Given the description of an element on the screen output the (x, y) to click on. 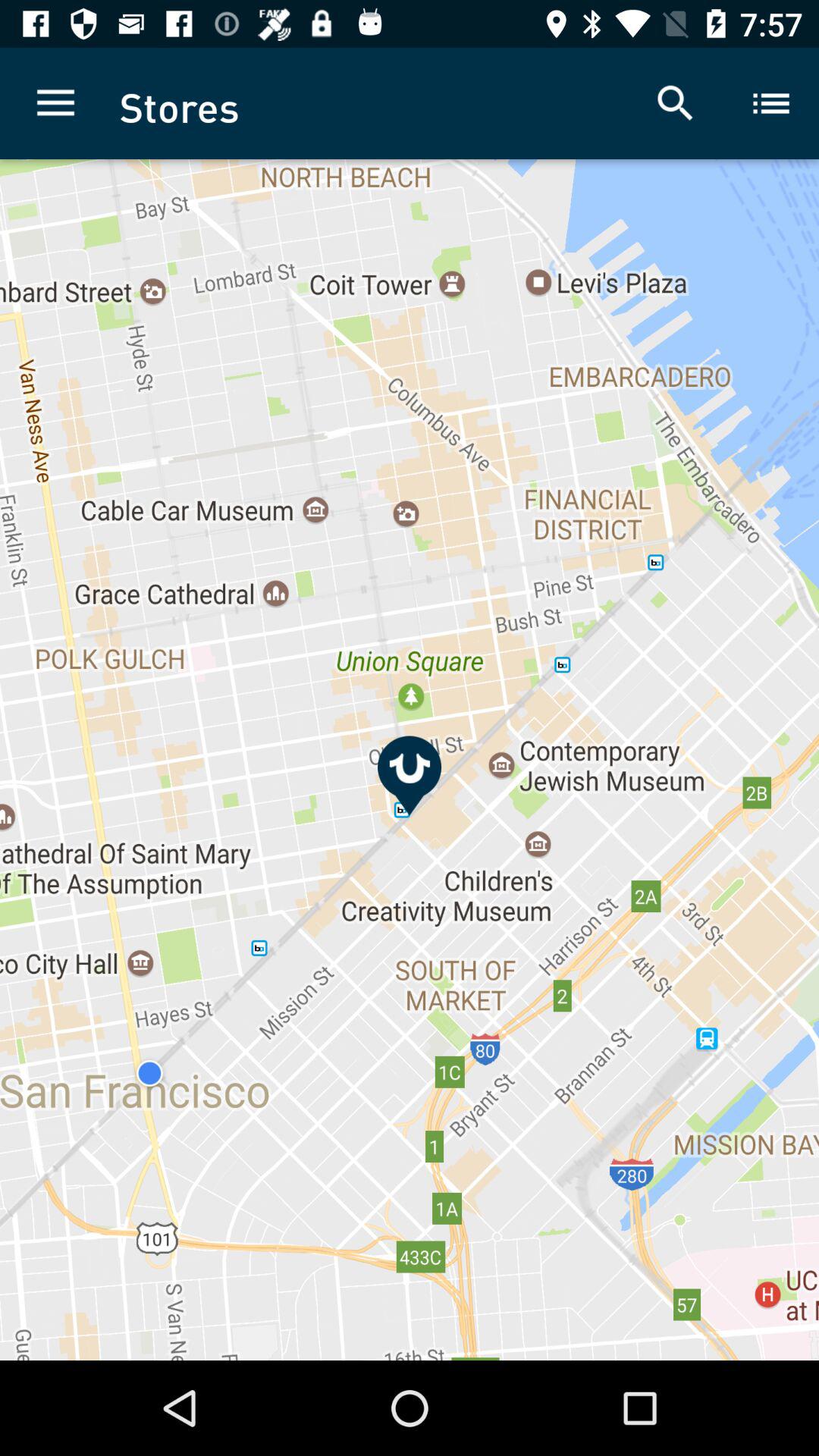
click app to the left of stores app (55, 103)
